Given the description of an element on the screen output the (x, y) to click on. 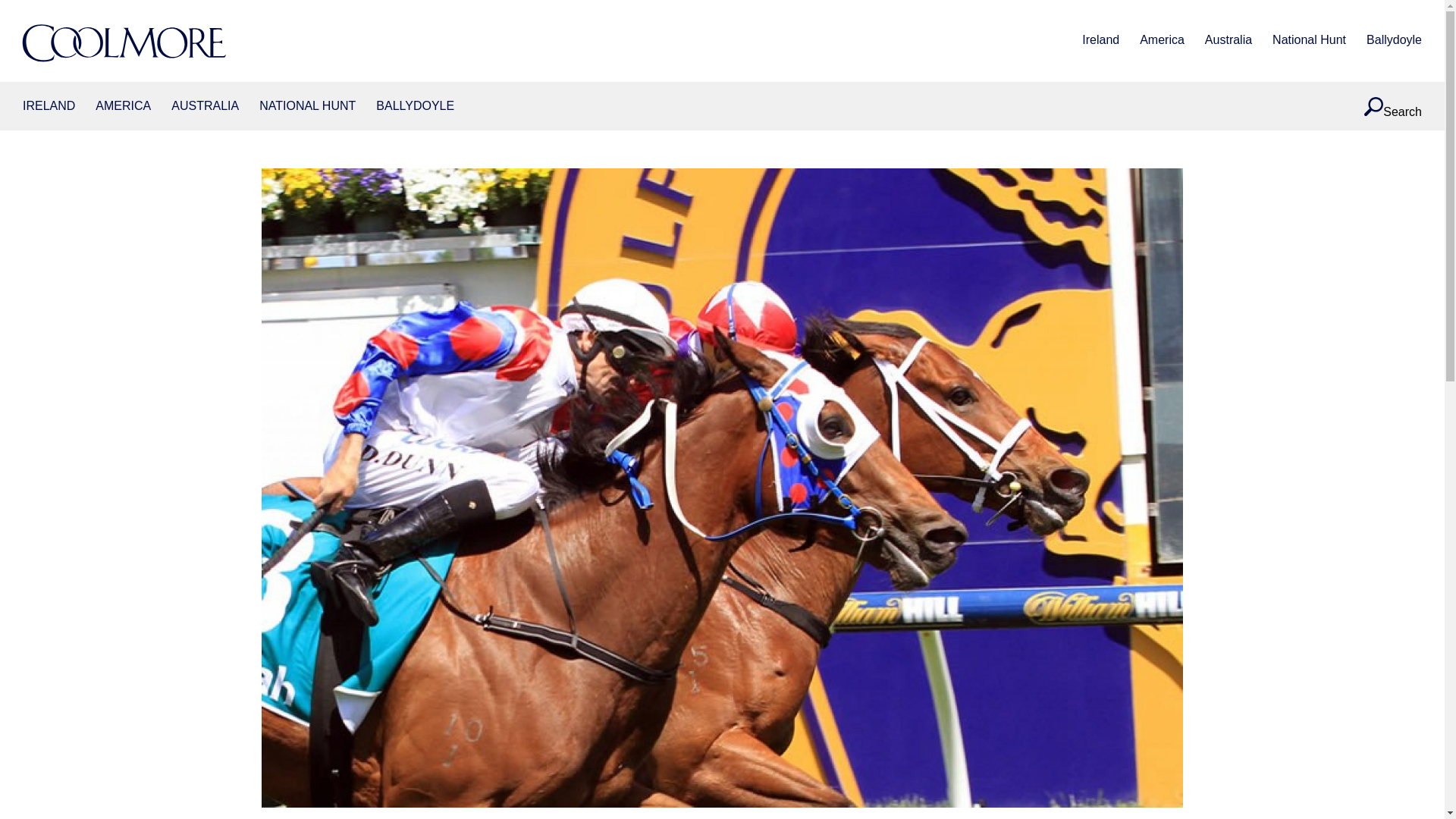
Ireland (1100, 40)
America (123, 106)
Ireland (49, 106)
America (1162, 40)
National Hunt (1308, 40)
Ballydoyle (414, 106)
AMERICA (123, 106)
AUSTRALIA (204, 106)
icon-magCreated with Sketch. (1373, 106)
National Hunt (307, 106)
